Given the description of an element on the screen output the (x, y) to click on. 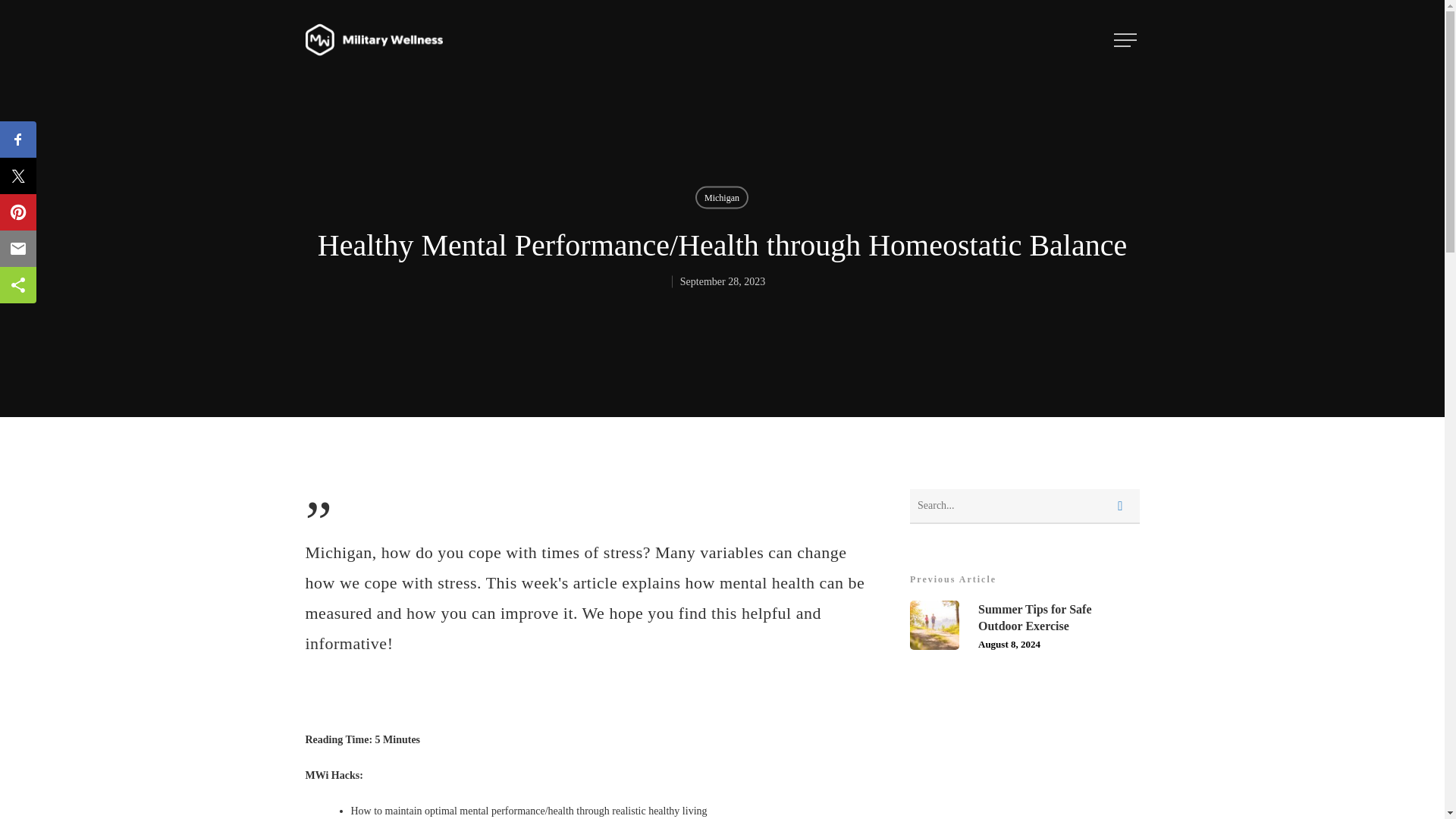
Search for: (1025, 625)
Michigan (1025, 506)
